Given the description of an element on the screen output the (x, y) to click on. 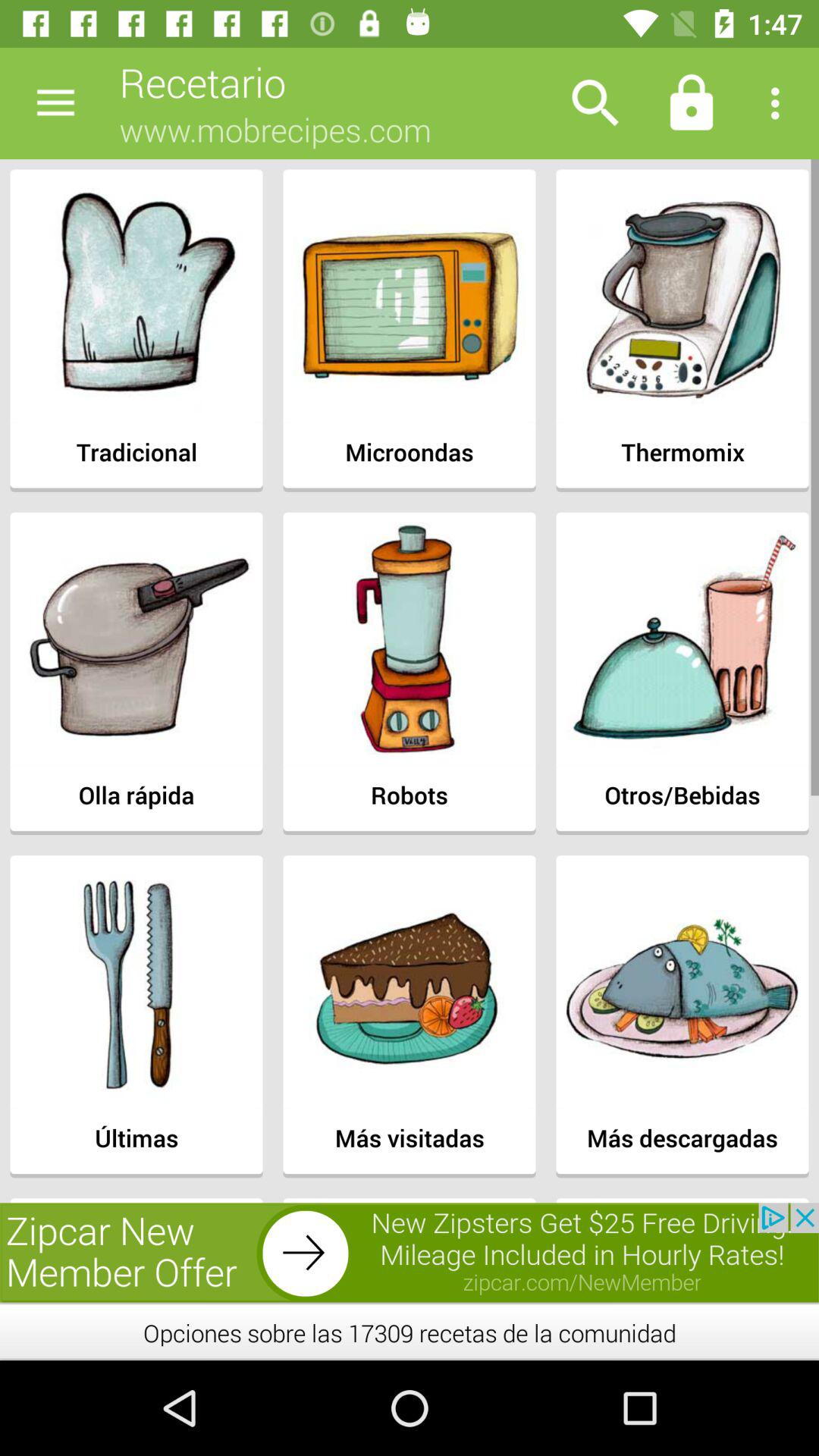
select advertisement (409, 1252)
